Given the description of an element on the screen output the (x, y) to click on. 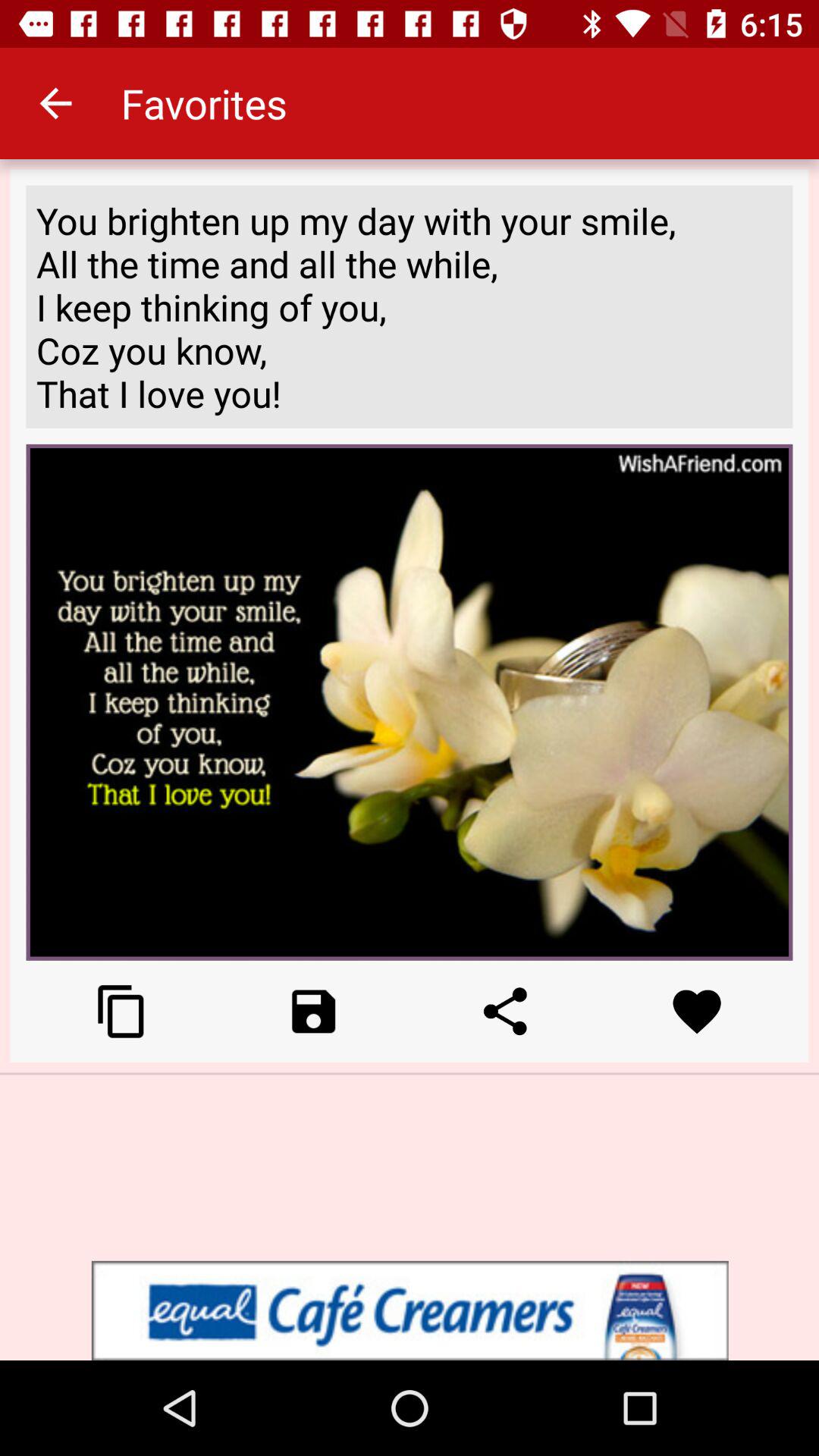
advertisement banner (409, 1310)
